Given the description of an element on the screen output the (x, y) to click on. 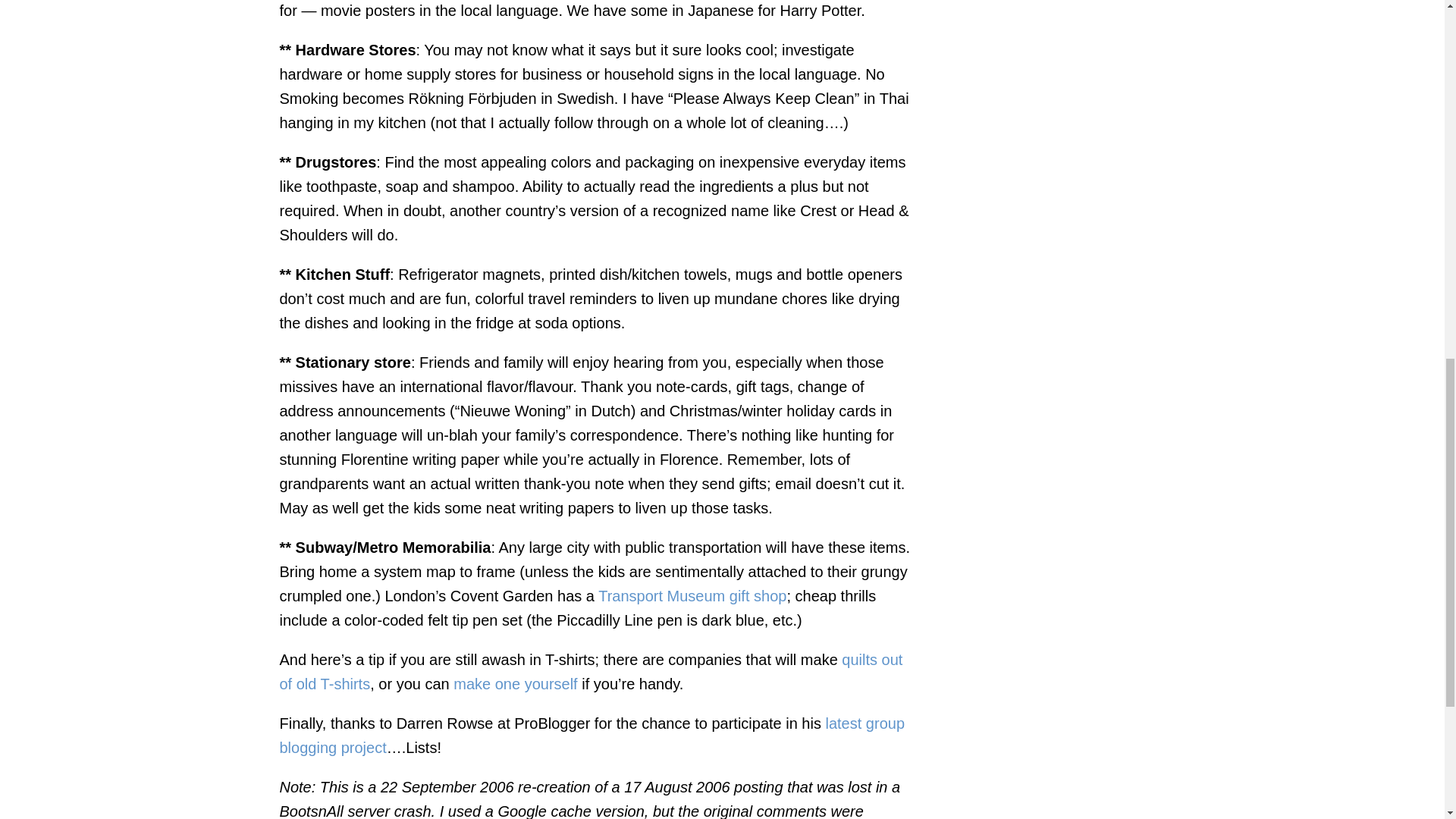
Link to the online gift shop. (692, 596)
Do something useful with old T-shirts (590, 671)
latest group blogging project (591, 734)
quilts out of old T-shirts (590, 671)
Make your own T-shirt quilt (514, 683)
make one yourself (514, 683)
ProBlogger's Lists group writing project (591, 734)
Transport Museum gift shop (692, 596)
